Given the description of an element on the screen output the (x, y) to click on. 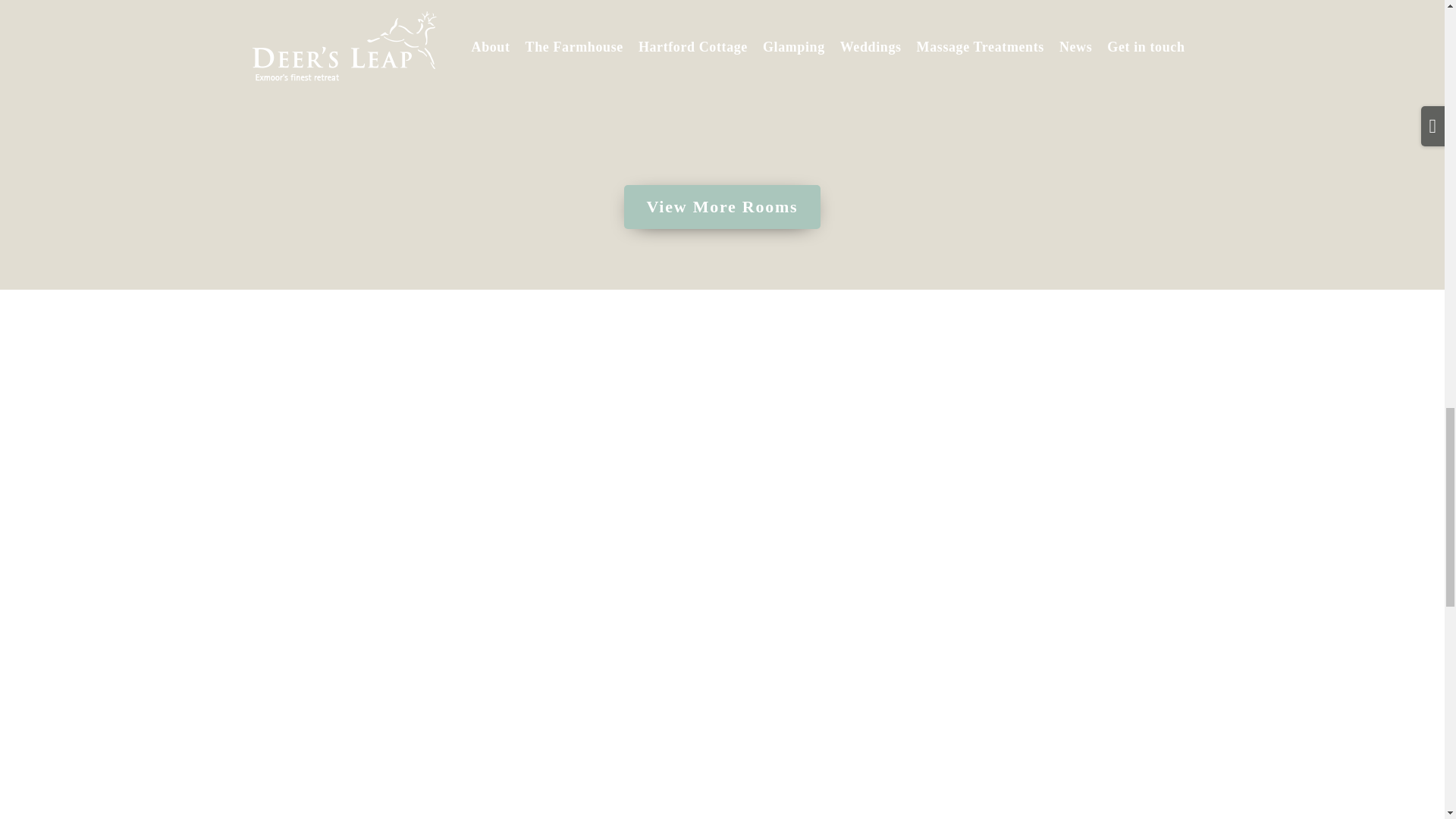
View More Rooms (722, 207)
